Given the description of an element on the screen output the (x, y) to click on. 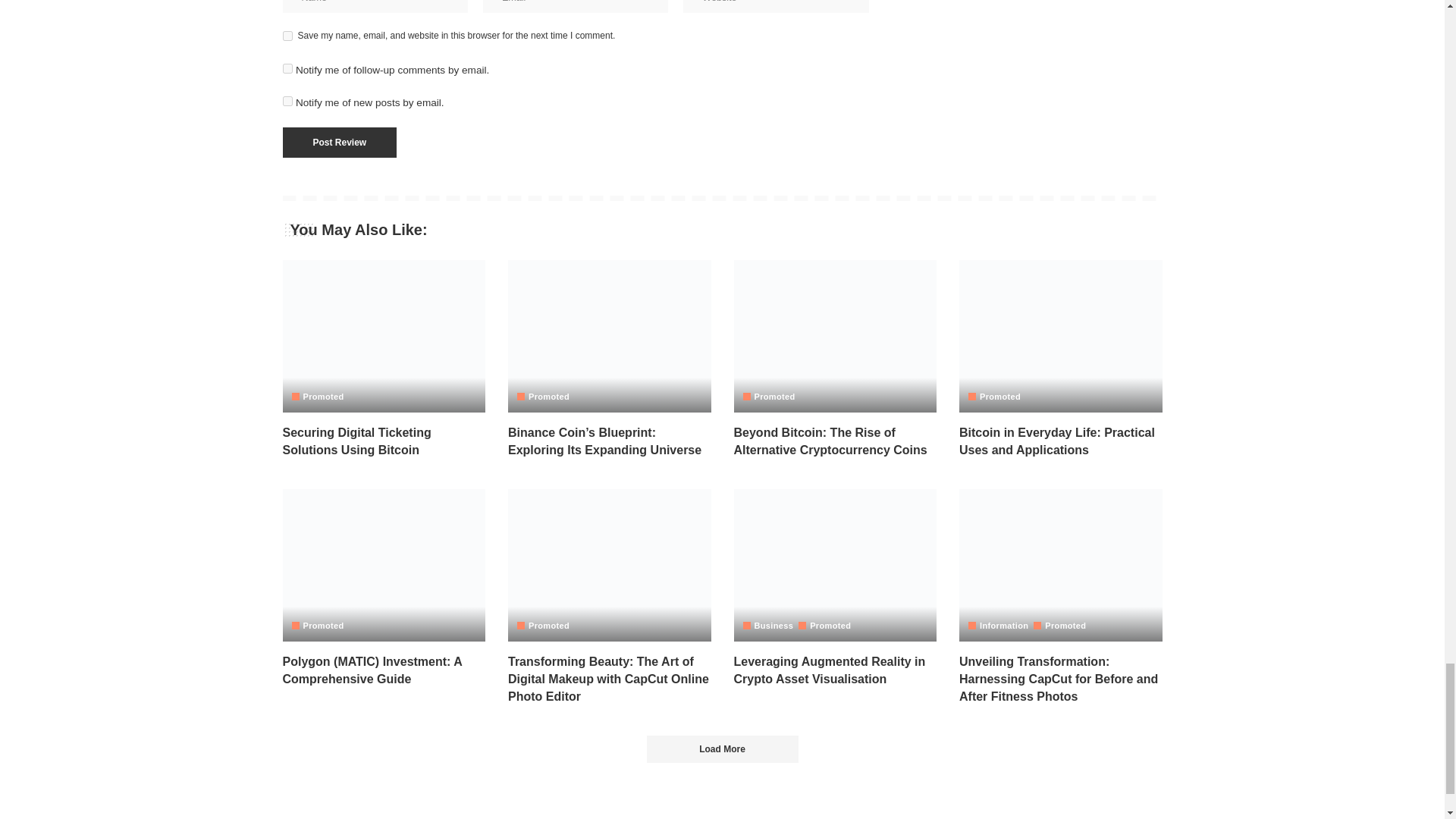
yes (287, 35)
Post Review (339, 142)
subscribe (287, 68)
Securing Digital Ticketing Solutions Using Bitcoin (383, 336)
Securing Digital Ticketing Solutions Using Bitcoin (356, 440)
subscribe (287, 101)
Beyond Bitcoin: The Rise of Alternative Cryptocurrency Coins (835, 336)
Beyond Bitcoin: The Rise of Alternative Cryptocurrency Coins (830, 440)
